Given the description of an element on the screen output the (x, y) to click on. 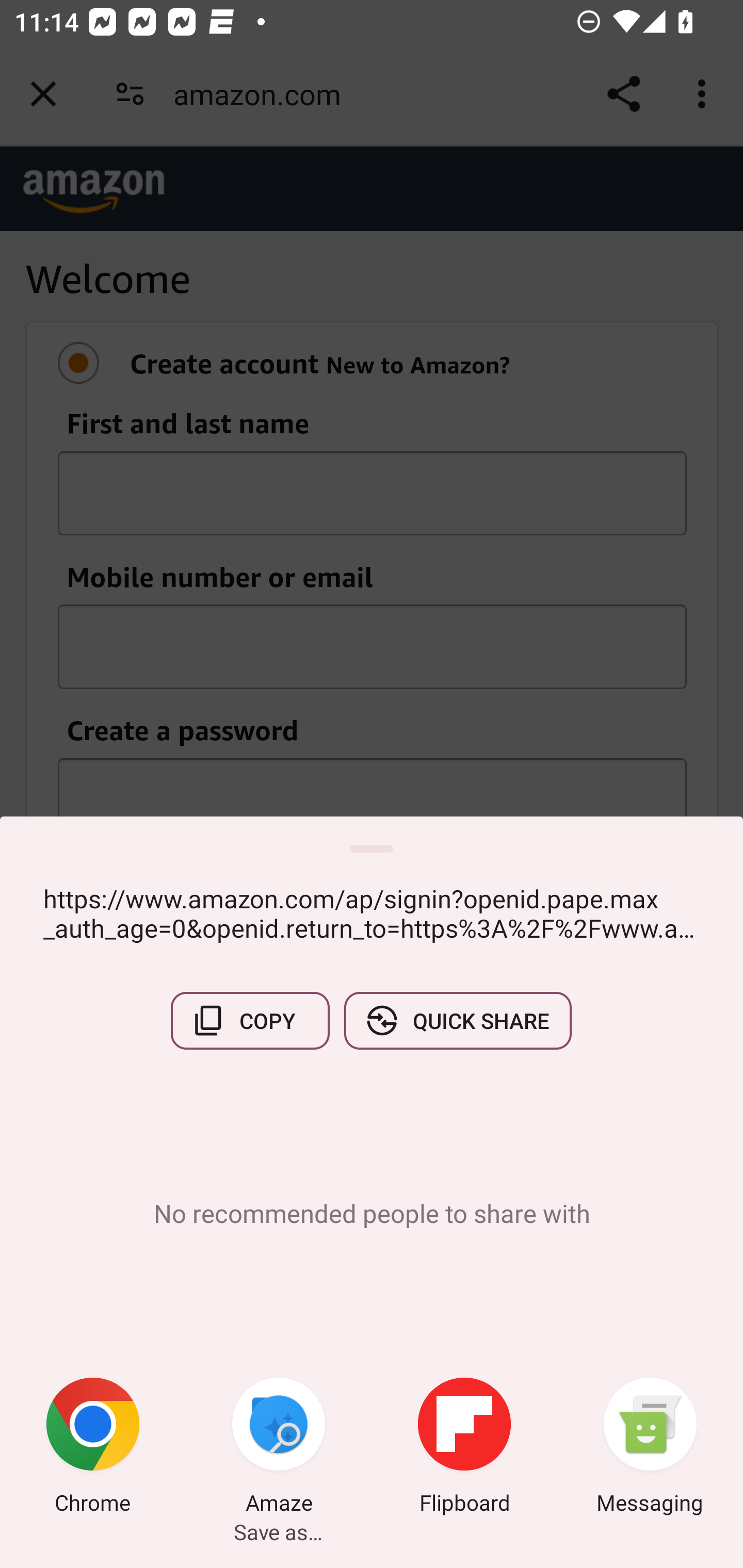
COPY (249, 1020)
QUICK SHARE (457, 1020)
Chrome (92, 1448)
Amaze Save as… (278, 1448)
Flipboard (464, 1448)
Messaging (650, 1448)
